Given the description of an element on the screen output the (x, y) to click on. 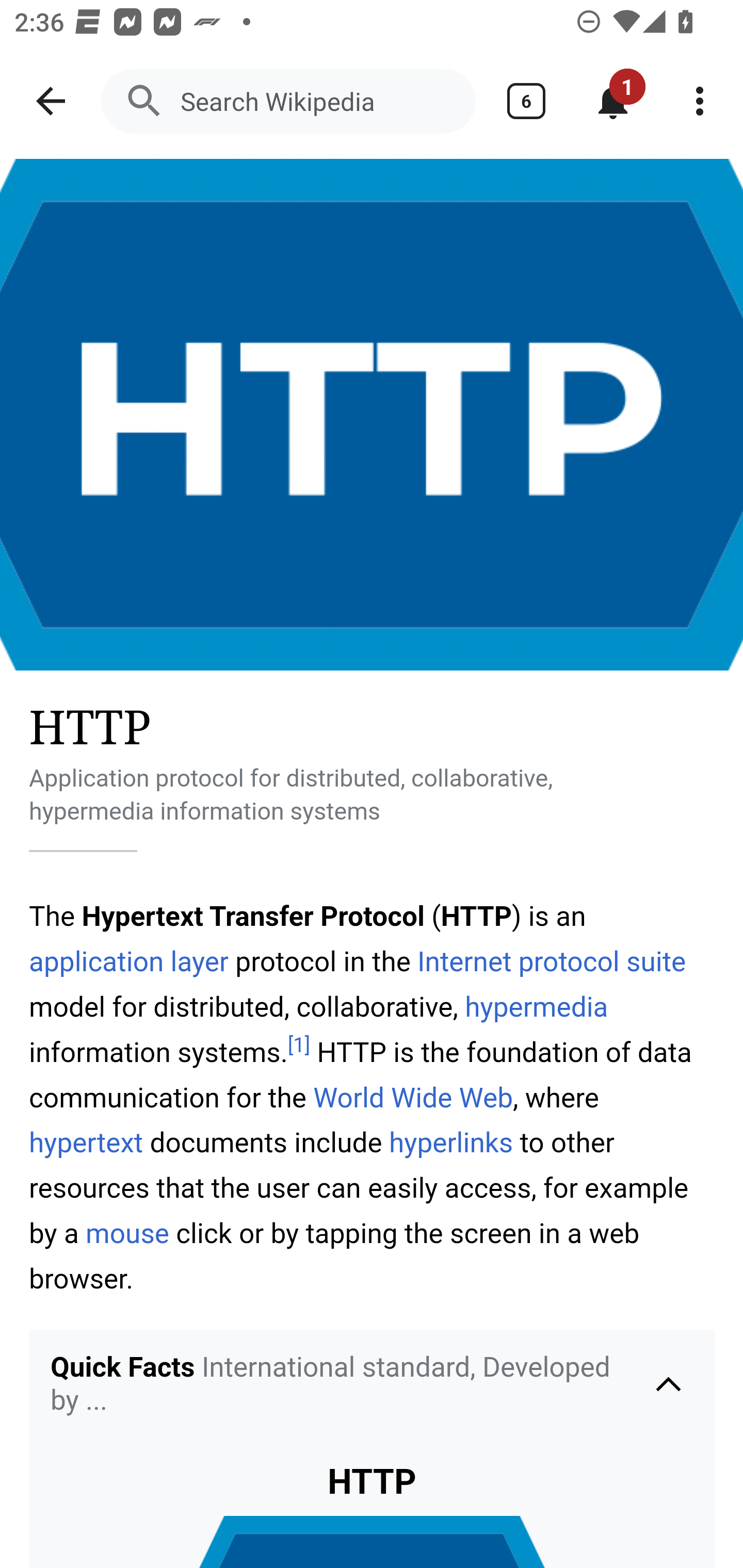
Show tabs 6 (525, 100)
Notifications 1 (612, 100)
Navigate up (50, 101)
More options (699, 101)
Search Wikipedia (288, 100)
Image: HTTP (371, 414)
application layer (128, 961)
Internet protocol suite (552, 961)
hypermedia (535, 1007)
[] [ 1 ] (299, 1045)
World Wide Web (413, 1098)
hypertext (86, 1142)
hyperlinks (450, 1142)
mouse (127, 1233)
